Given the description of an element on the screen output the (x, y) to click on. 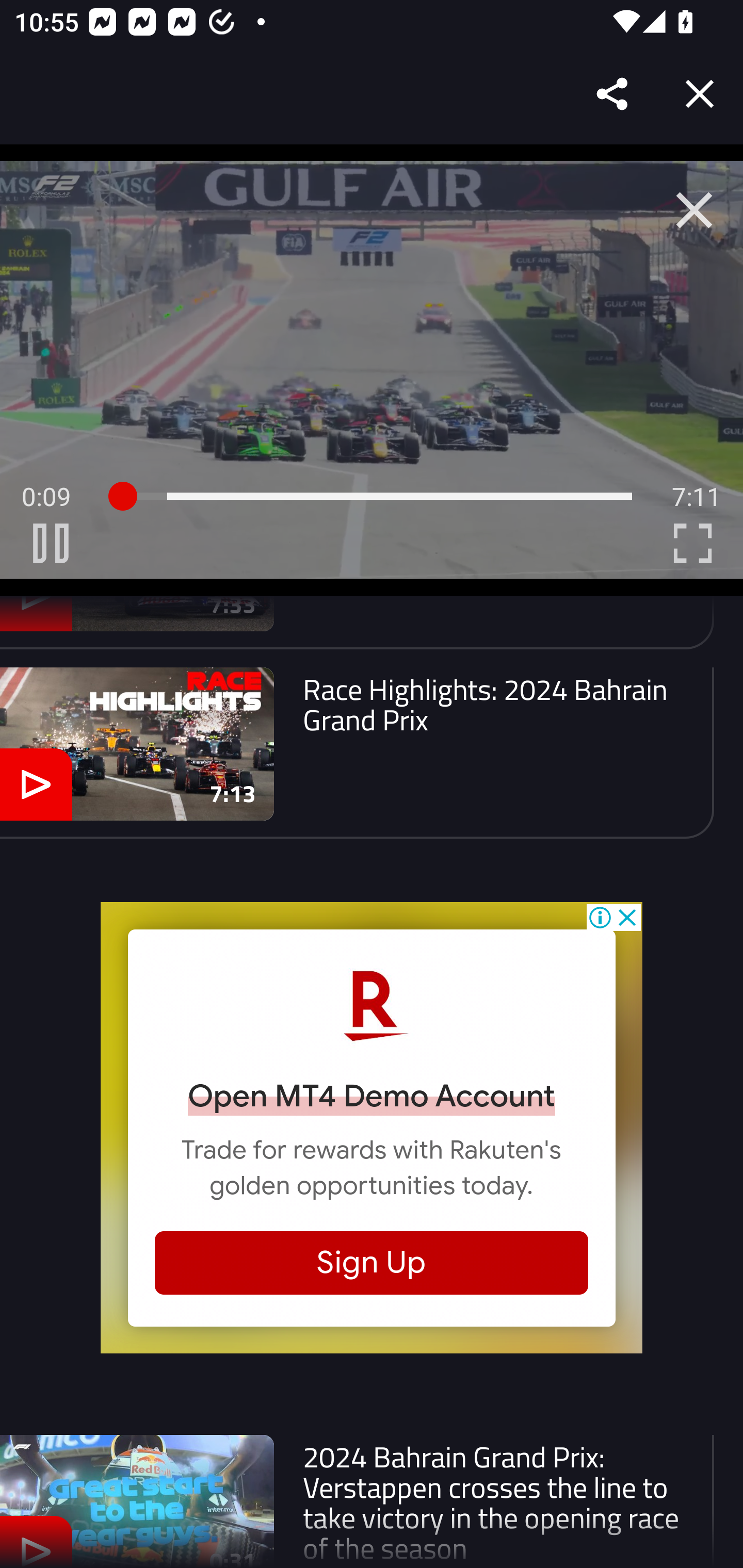
Share (612, 93)
Close (699, 93)
 Close (693, 210)
B Pause (50, 543)
C Enter Fullscreen (692, 543)
7:13 Race Highlights: 2024 Bahrain Grand Prix (357, 752)
Open MT4 Demo Account (371, 1095)
Sign Up (371, 1262)
